Given the description of an element on the screen output the (x, y) to click on. 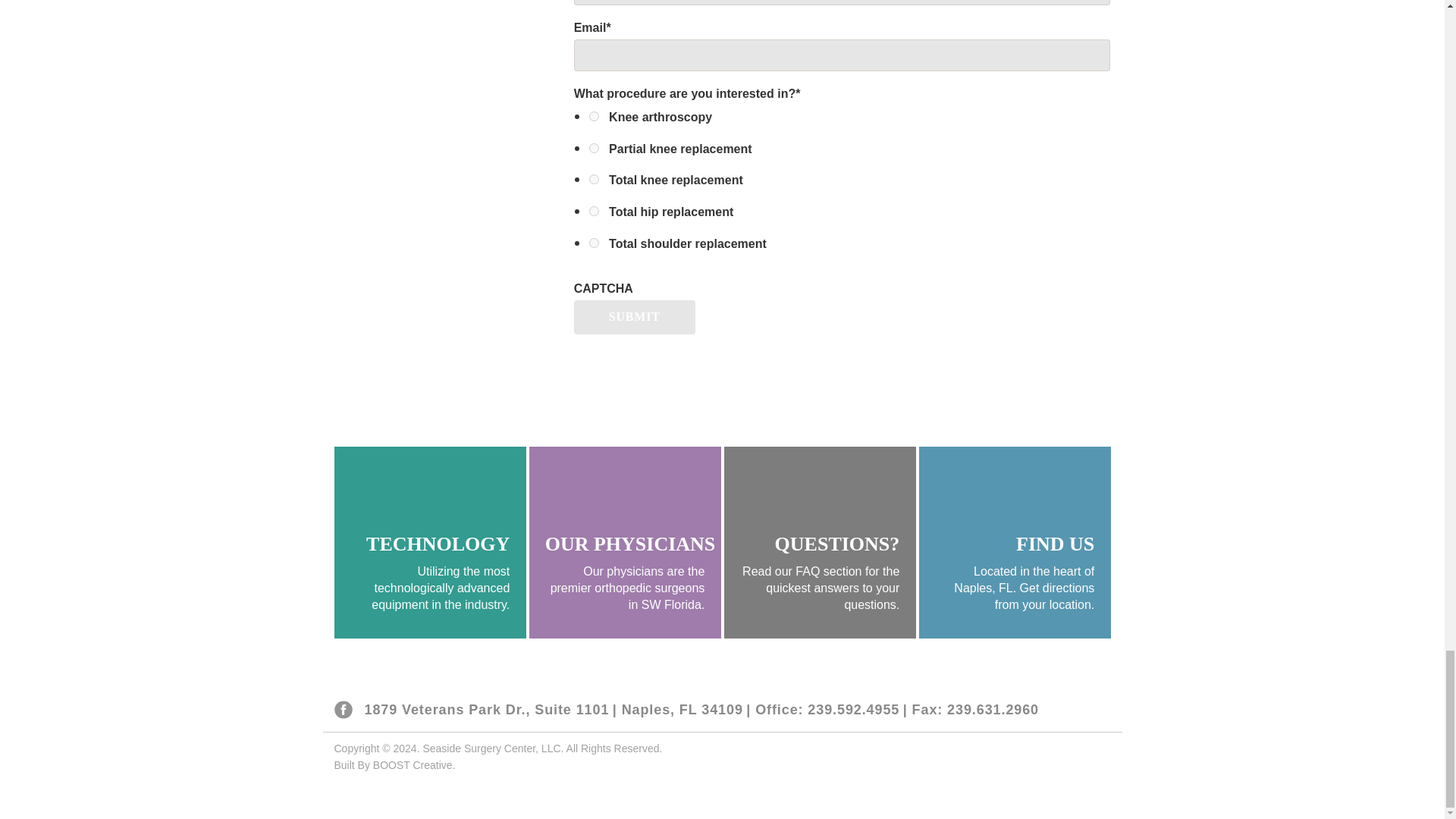
Knee arthroscopy (593, 116)
Total knee replacement (593, 179)
Submit (634, 317)
Partial knee replacement (593, 148)
Total shoulder replacement (593, 243)
Total hip replacement (593, 211)
